Given the description of an element on the screen output the (x, y) to click on. 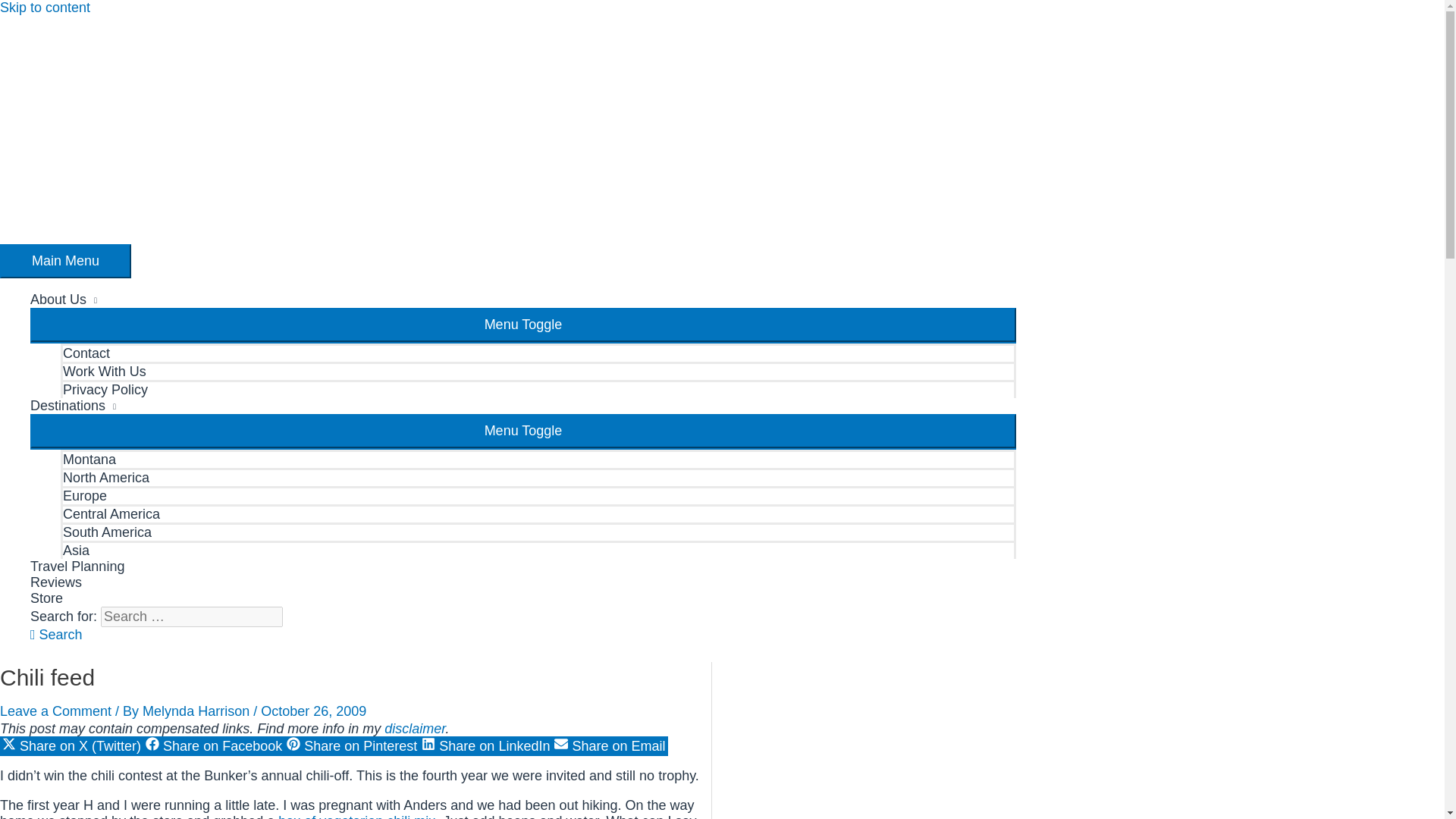
Skip to content (45, 7)
Menu Toggle (523, 324)
Asia (538, 549)
Share on Pinterest (351, 745)
Montana (538, 458)
Melynda Harrison (197, 711)
disclaimer (414, 728)
Reviews (523, 582)
Skip to content (45, 7)
box of vegetarian chili mix (356, 816)
North America (538, 476)
Europe (538, 495)
Store (523, 598)
Share on LinkedIn (485, 745)
South America (538, 531)
